Given the description of an element on the screen output the (x, y) to click on. 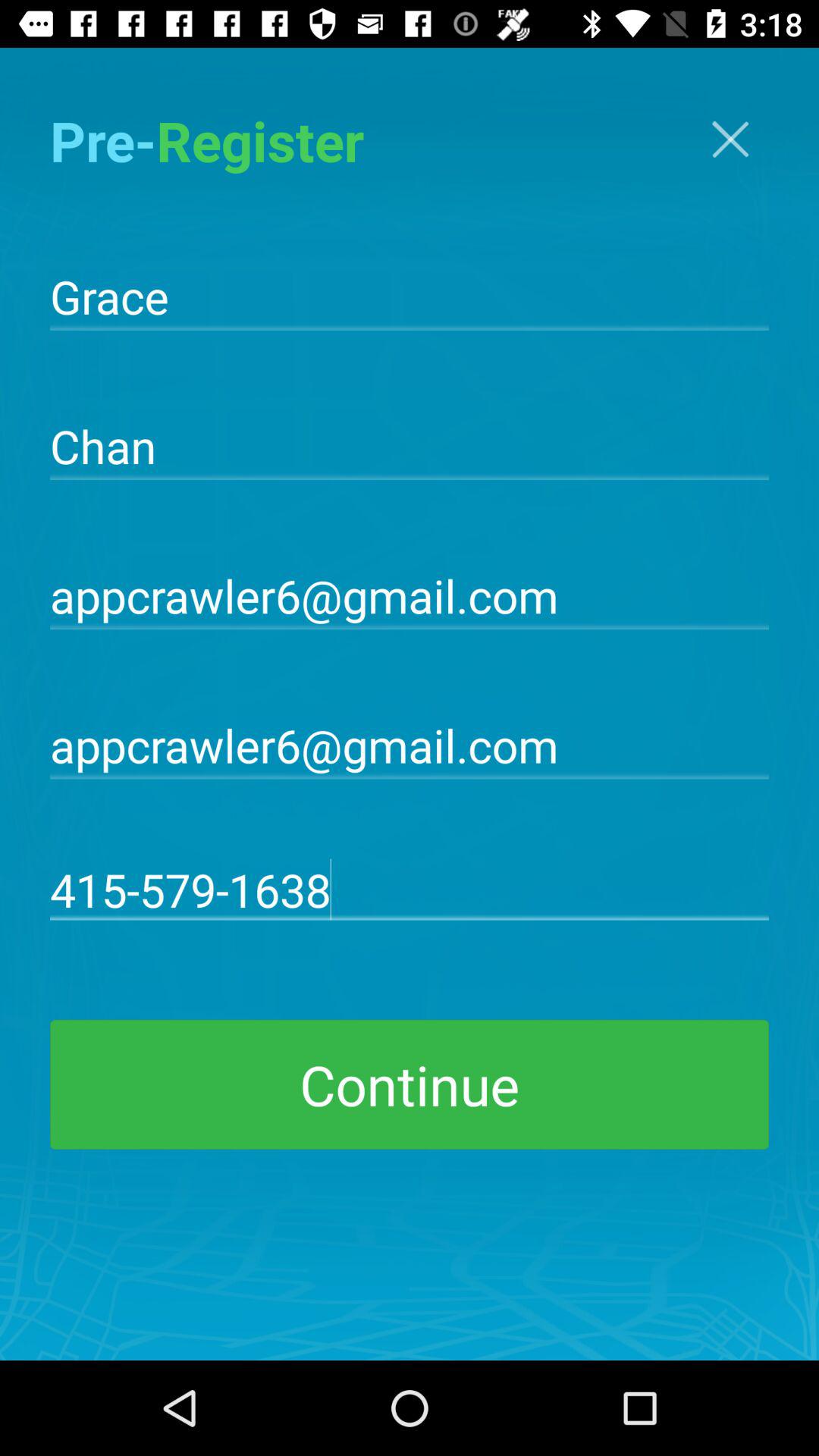
click the grace (409, 295)
